Given the description of an element on the screen output the (x, y) to click on. 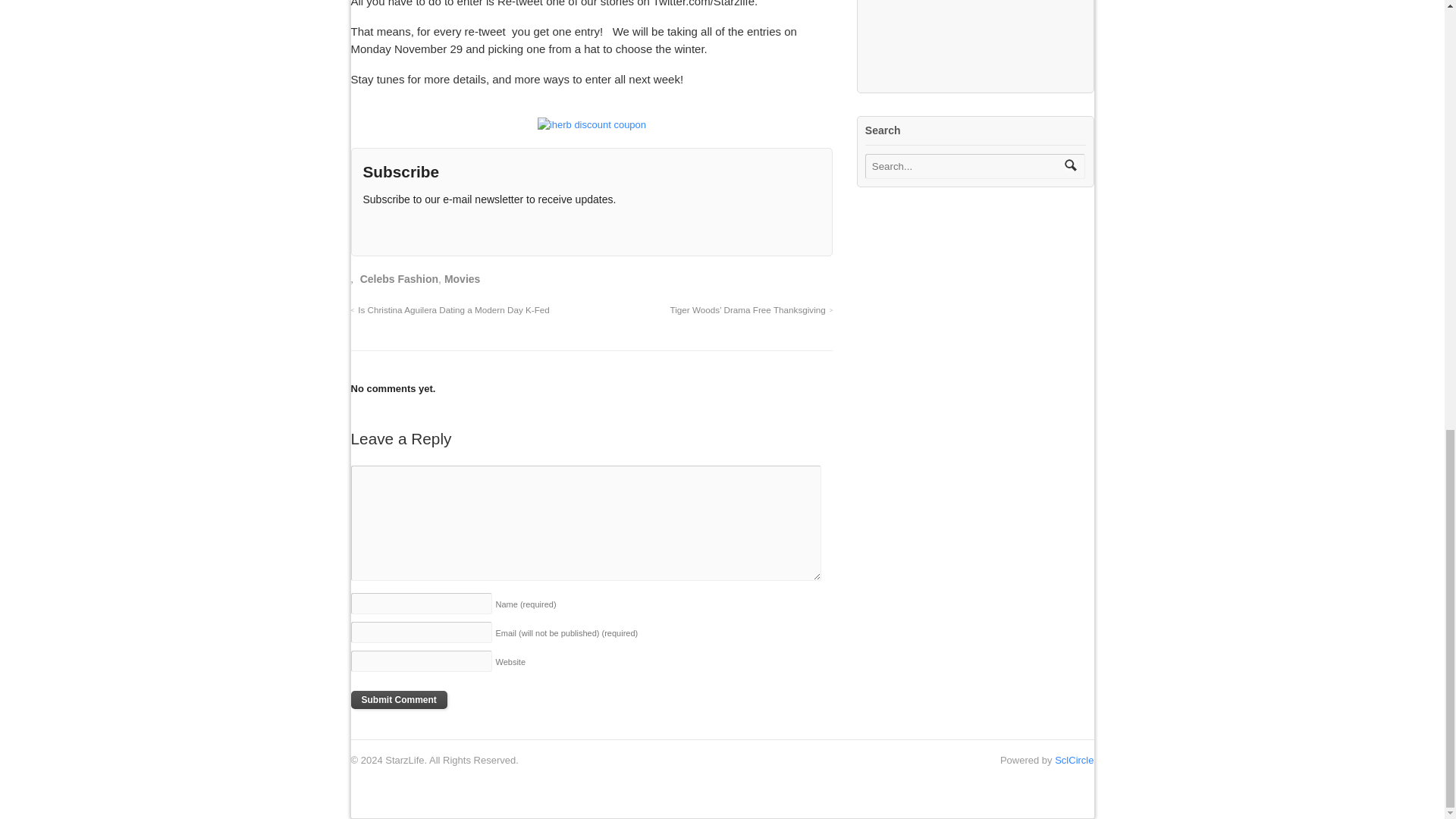
Twitter (399, 228)
Submit Comment (398, 700)
Is Christina Aguilera Dating a Modern Day K-Fed (449, 309)
LinkedIn (475, 228)
RSS (373, 228)
Submit Comment (398, 700)
YouTube (450, 228)
Facebook (424, 228)
Celebs Fashion (398, 278)
Search... (965, 166)
Movies (462, 278)
